Given the description of an element on the screen output the (x, y) to click on. 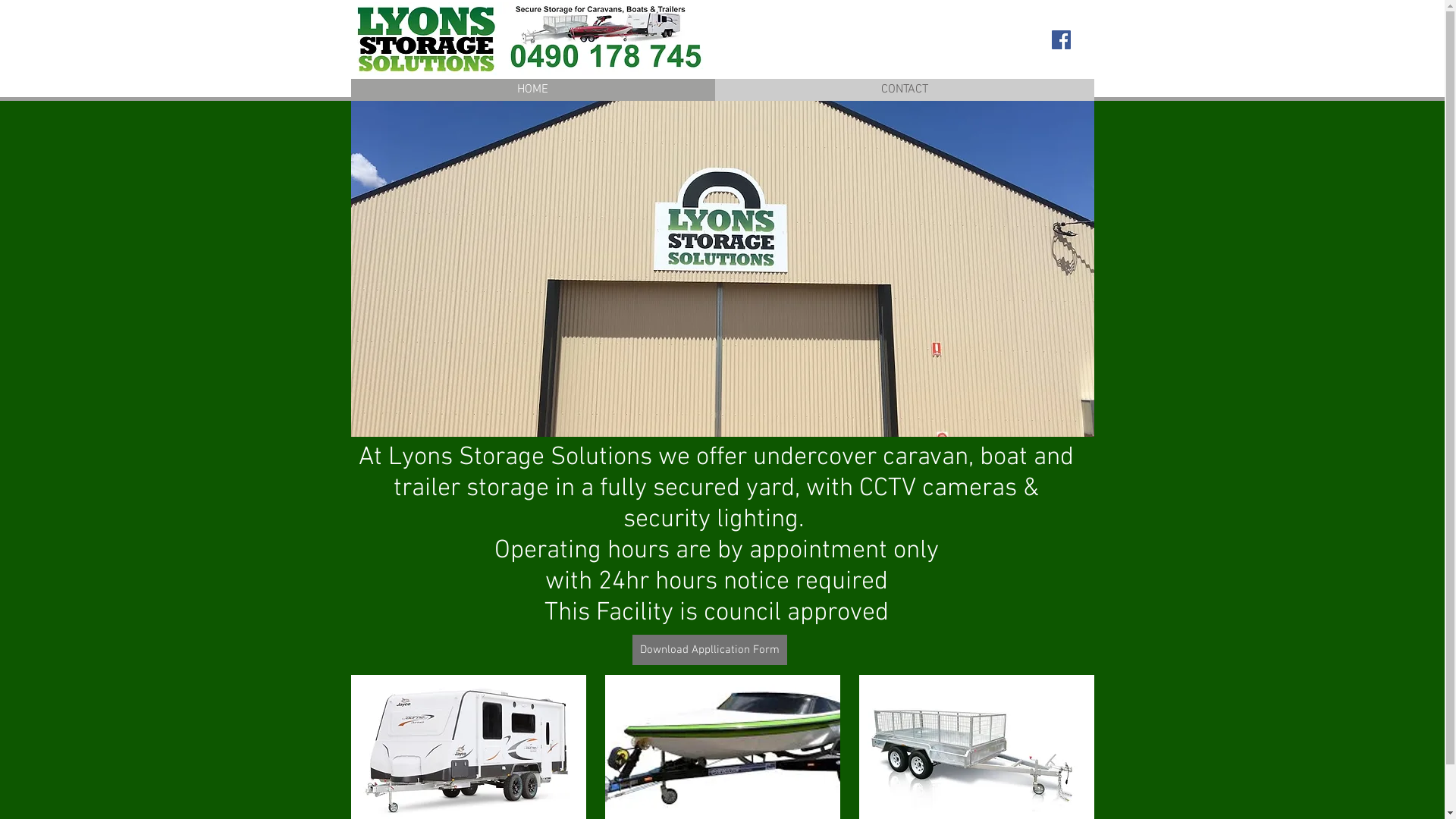
Download Appllication Form Element type: text (709, 649)
HOME Element type: text (531, 89)
CONTACT Element type: text (904, 89)
